Given the description of an element on the screen output the (x, y) to click on. 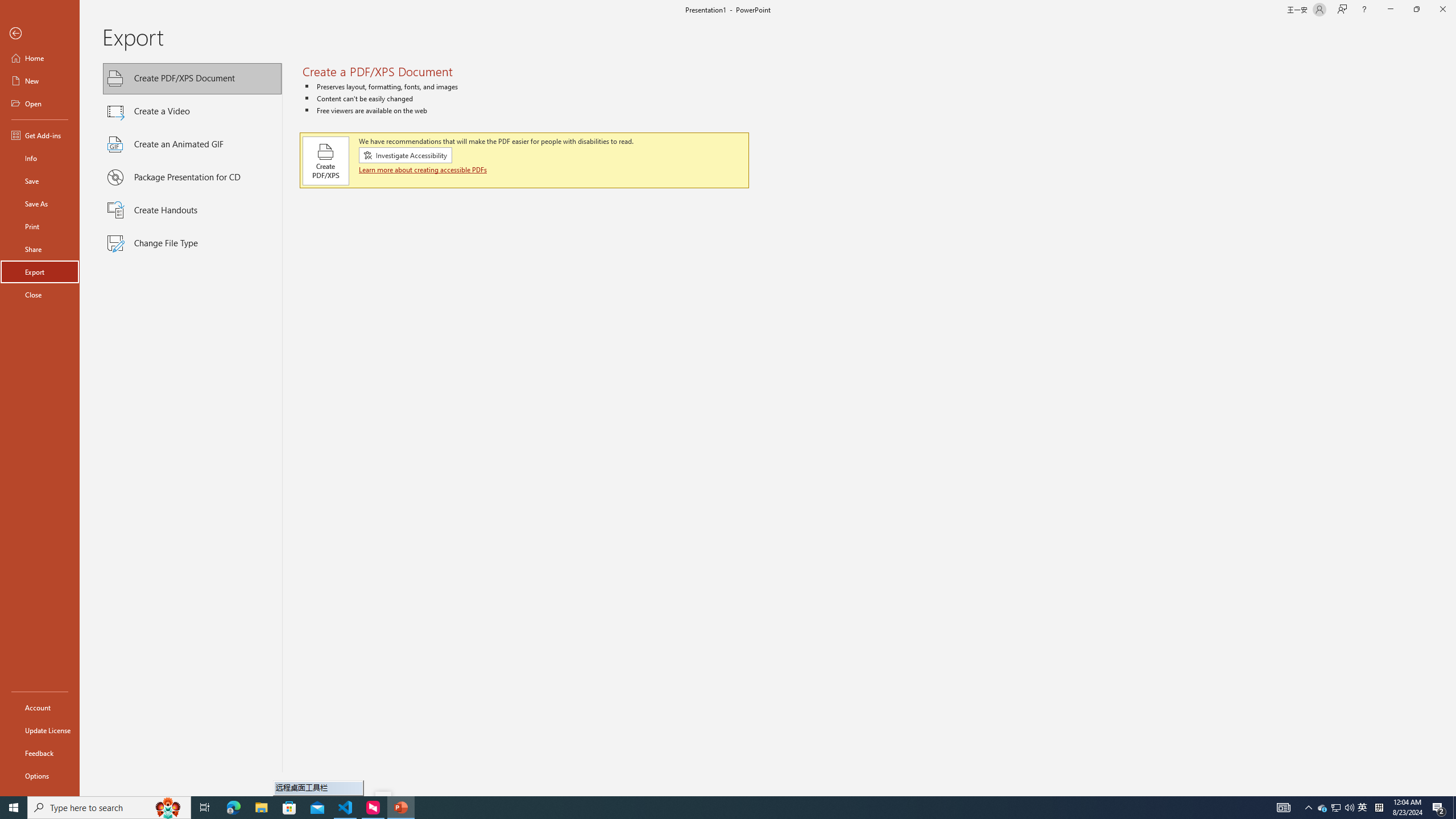
Export (40, 271)
Get Add-ins (40, 134)
Account (40, 707)
Investigate Accessibility (405, 154)
Save As (40, 203)
Info (40, 157)
Create a Video (192, 111)
Learn more about creating accessible PDFs (423, 169)
Create Handouts (192, 210)
